Given the description of an element on the screen output the (x, y) to click on. 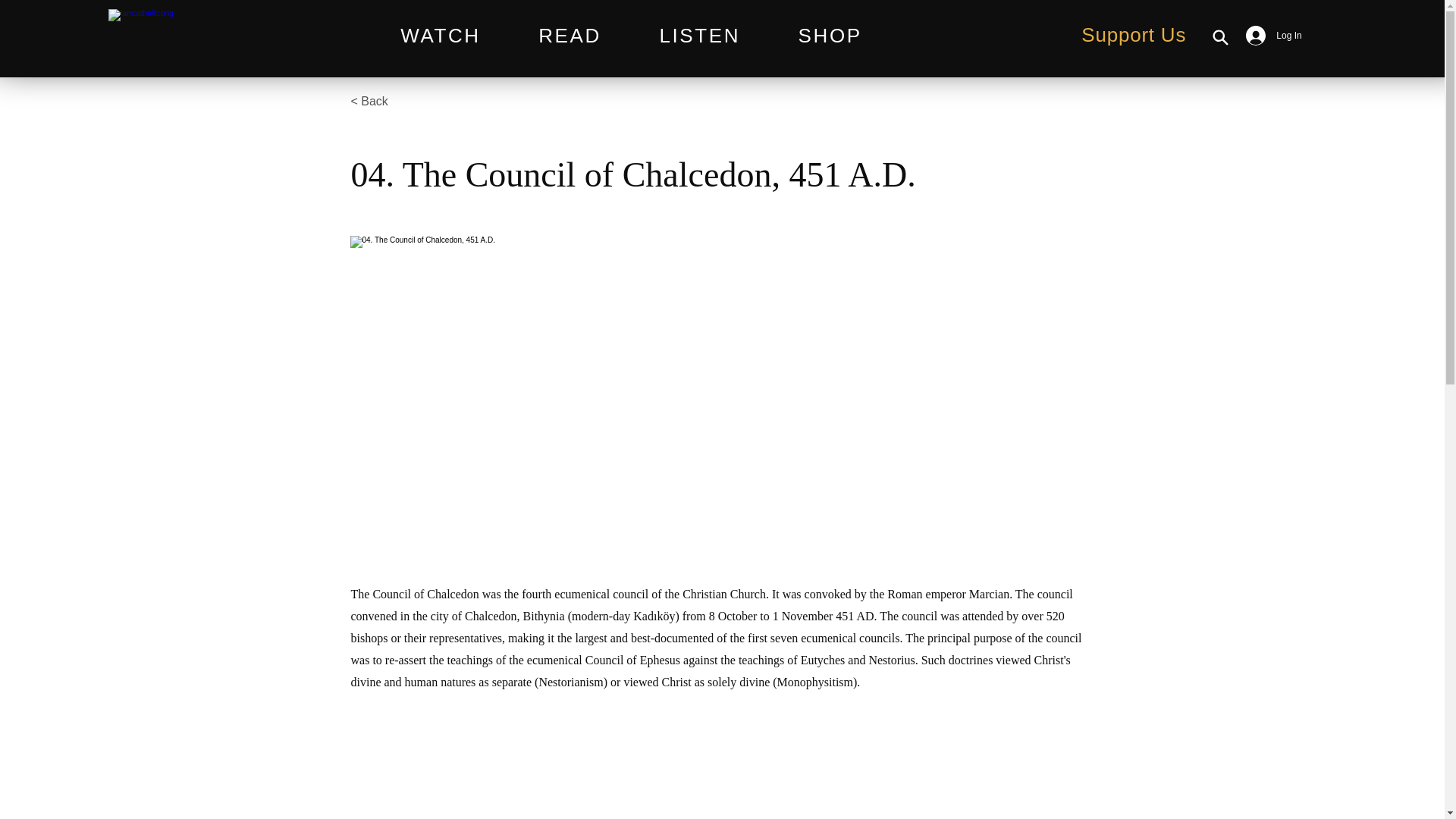
WATCH (440, 36)
SHOP (829, 36)
Log In (1264, 35)
LISTEN (699, 36)
READ (569, 36)
Support Us (1133, 34)
